Given the description of an element on the screen output the (x, y) to click on. 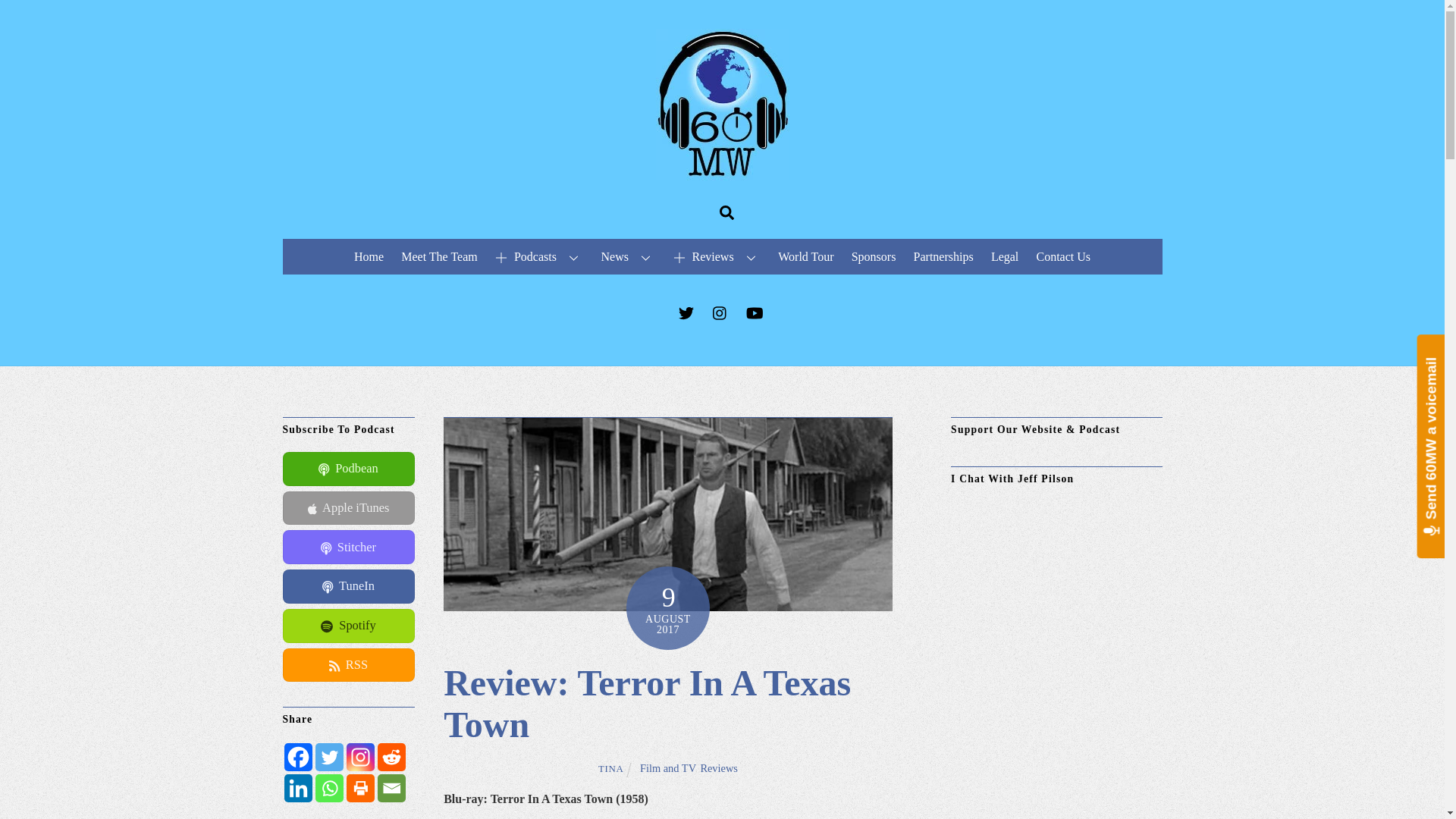
Legal (1005, 256)
World Tour (806, 256)
Facebook (297, 756)
HeaderTerrorInATexasTown (668, 513)
60 Minutes With (722, 173)
Film and TV (667, 767)
Sponsors (873, 256)
Reviews (716, 256)
Twitter (329, 756)
Reviews (719, 767)
